Given the description of an element on the screen output the (x, y) to click on. 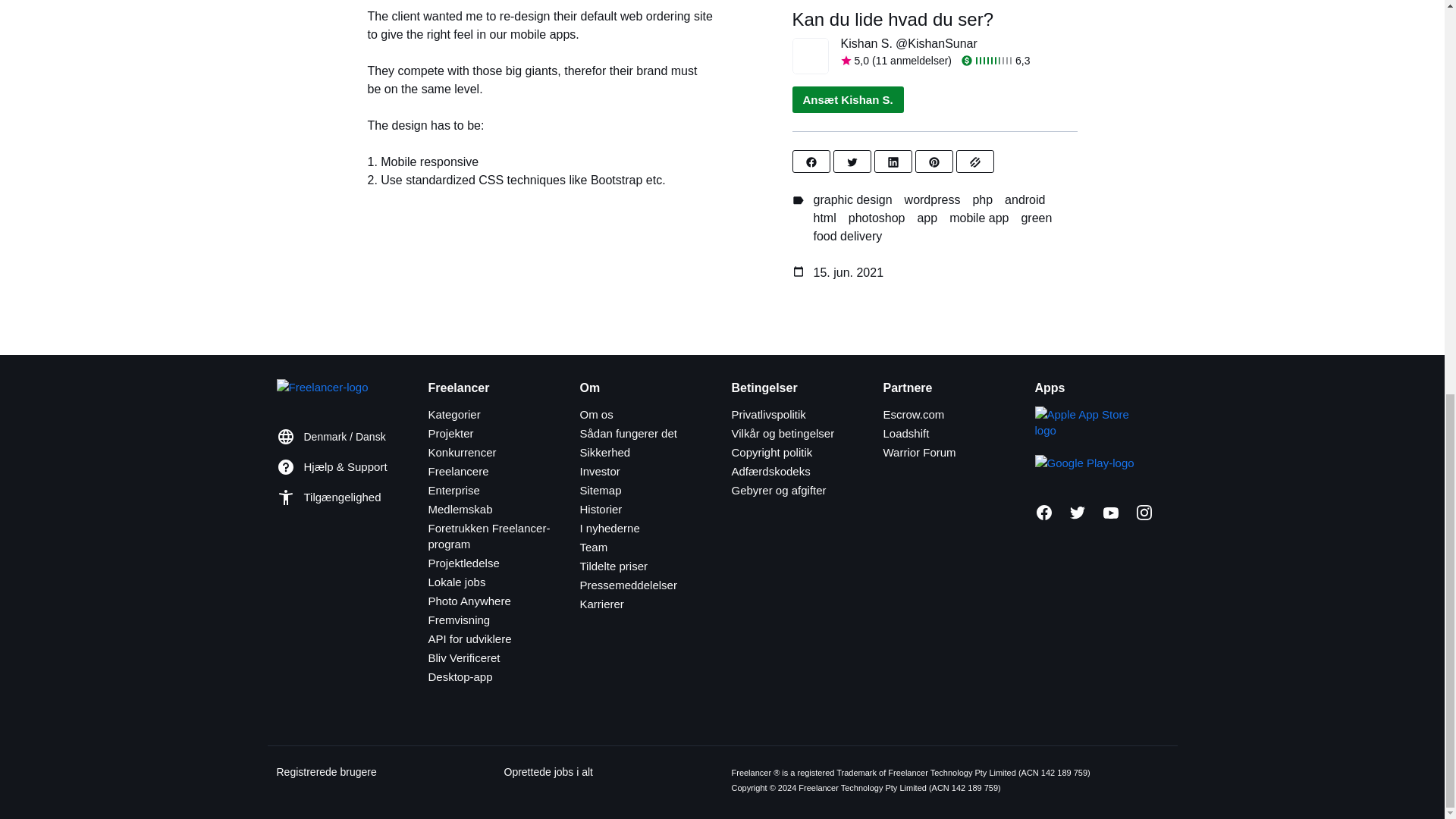
Twitter (1076, 512)
Kategorier (454, 413)
Kopier link til udklipsholder (975, 162)
YouTube (1109, 512)
Instagram (1143, 512)
Projekter (450, 432)
Freelancere (457, 471)
Facebook (1042, 512)
Konkurrencer (462, 451)
Enterprise (453, 490)
